Given the description of an element on the screen output the (x, y) to click on. 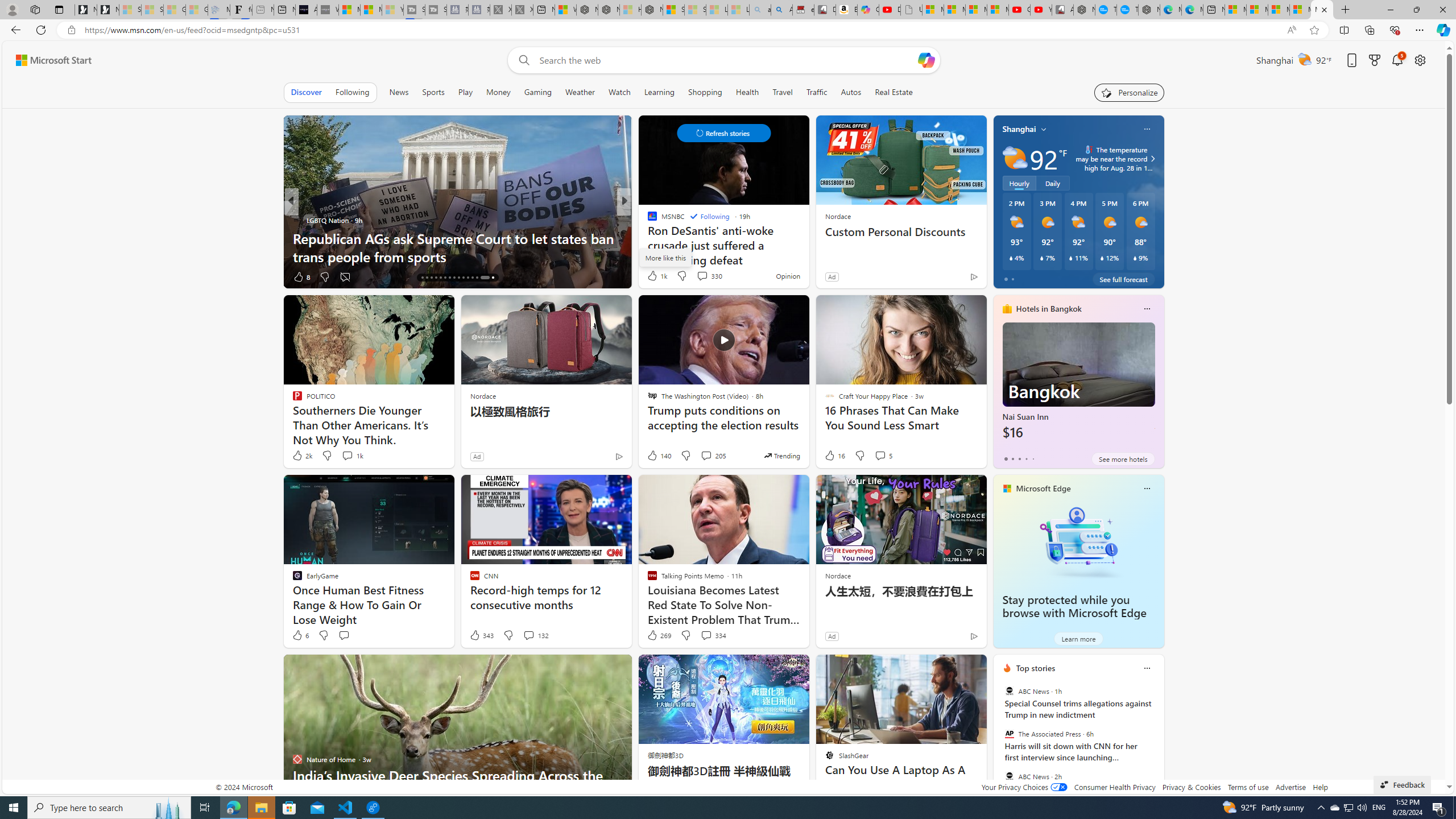
Hide this story (952, 668)
Hourly (1018, 183)
View comments 152 Comment (6, 276)
View comments 334 Comment (712, 634)
Partly sunny (1014, 158)
The Associated Press (1008, 733)
Class: weather-current-precipitation-glyph (1134, 257)
You're following FOX News (253, 279)
Stay protected while you browse with Microsoft Edge (1074, 606)
